Given the description of an element on the screen output the (x, y) to click on. 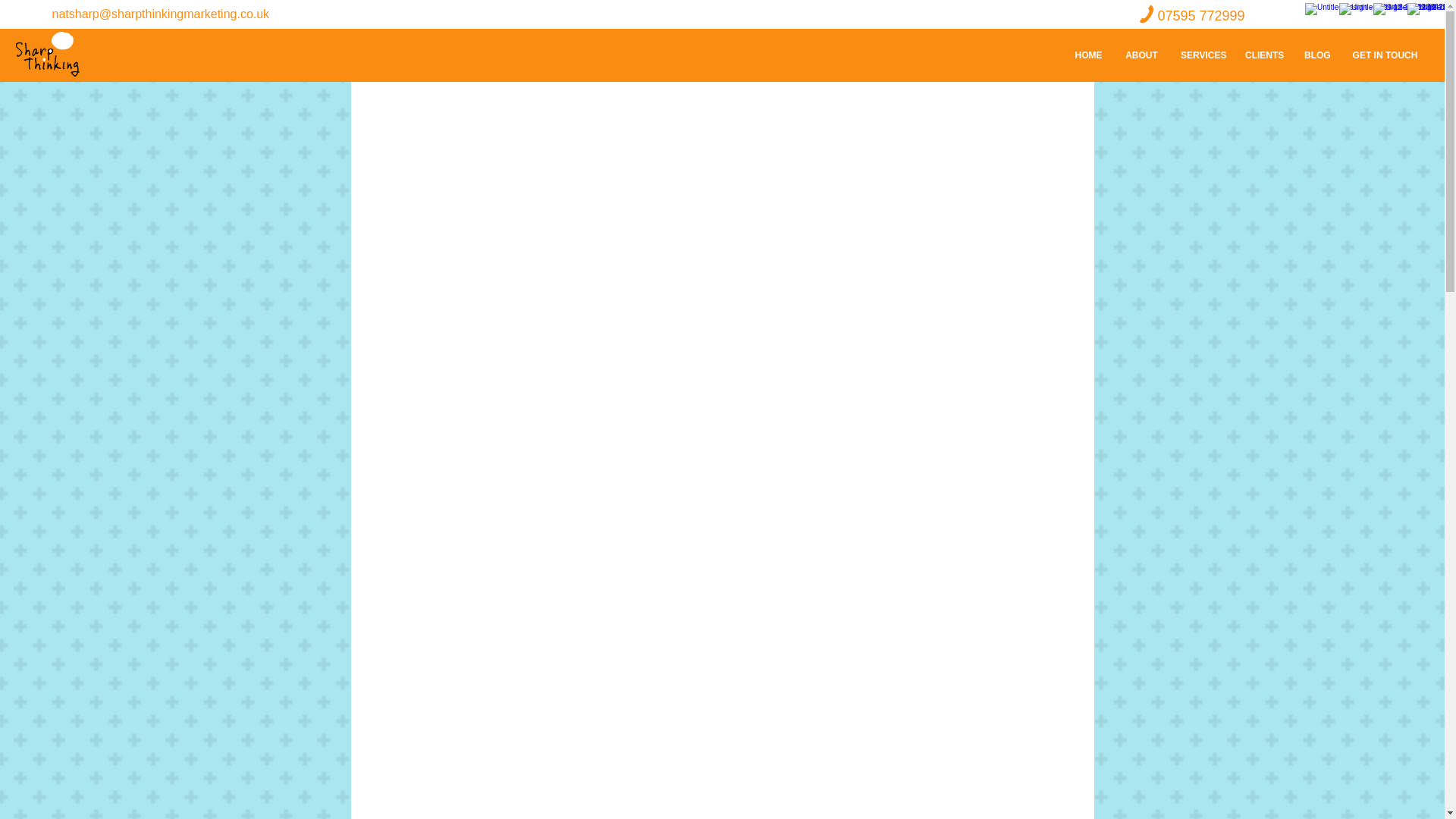
BLOG (1316, 55)
CLIENTS (1262, 55)
ABOUT (1141, 55)
GET IN TOUCH (1384, 55)
SERVICES (1201, 55)
HOME (1087, 55)
07595 772999 (1200, 15)
